Given the description of an element on the screen output the (x, y) to click on. 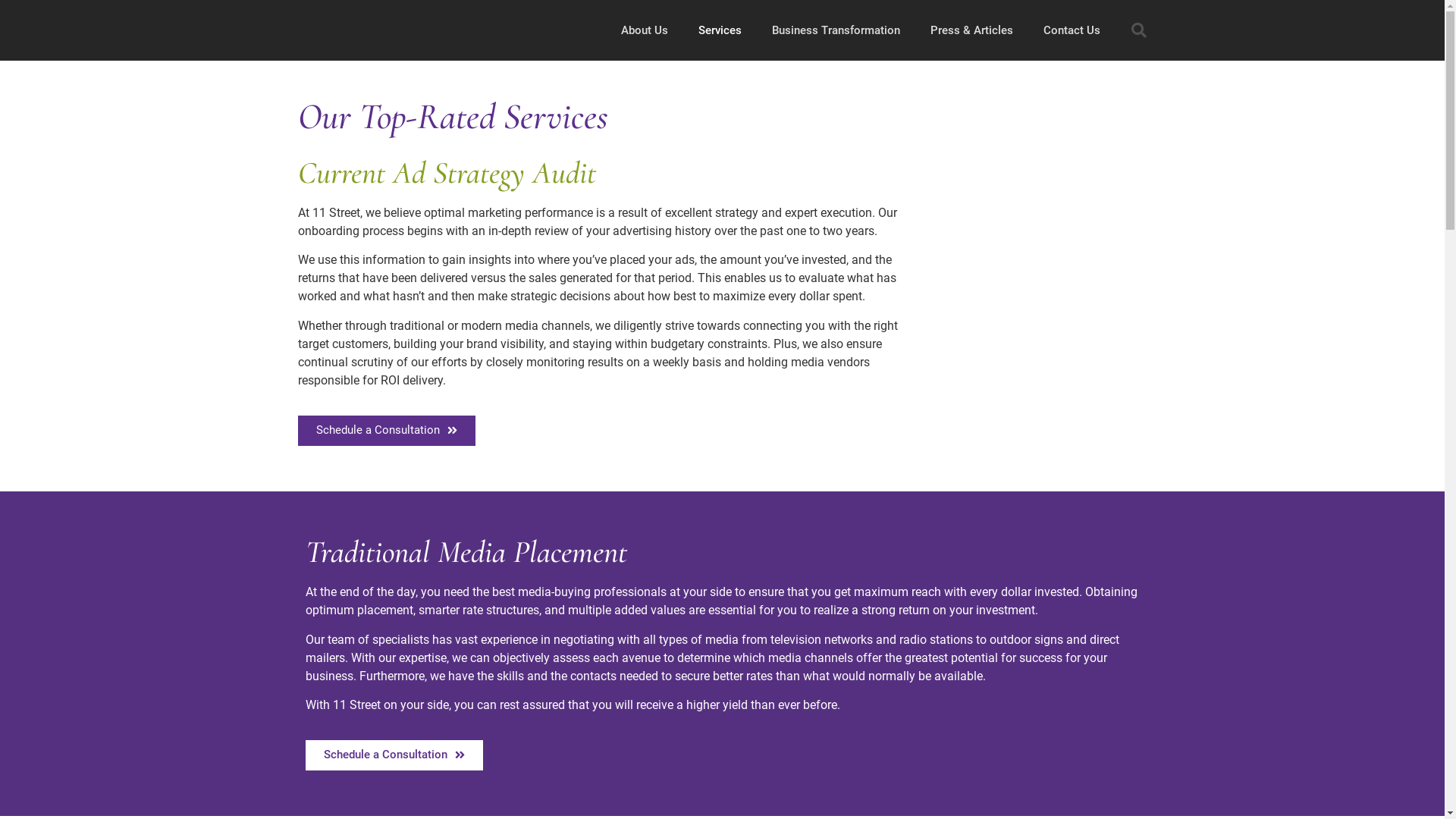
Contact Us Element type: text (1071, 30)
Business Transformation Element type: text (835, 30)
Schedule a Consultation Element type: text (385, 430)
Services Element type: text (719, 30)
About Us Element type: text (643, 30)
Schedule a Consultation Element type: text (393, 755)
Press & Articles Element type: text (970, 30)
